Given the description of an element on the screen output the (x, y) to click on. 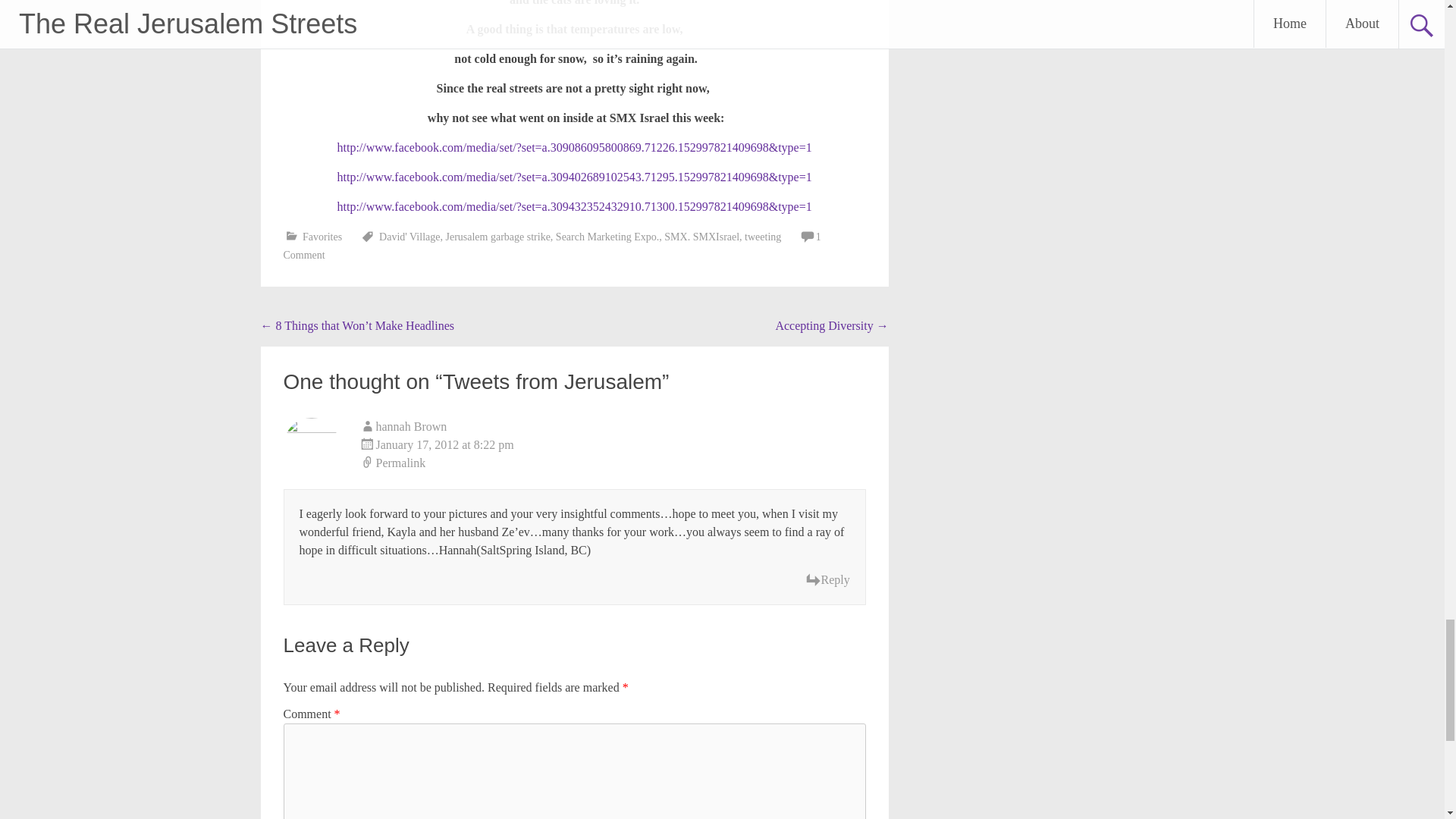
Favorites (322, 236)
Jerusalem garbage strike (497, 236)
David' Village (408, 236)
Search Marketing Expo. (607, 236)
Permalink (612, 463)
tweeting (762, 236)
Reply (827, 579)
SMX. SMXIsrael (701, 236)
1 Comment (552, 245)
